Given the description of an element on the screen output the (x, y) to click on. 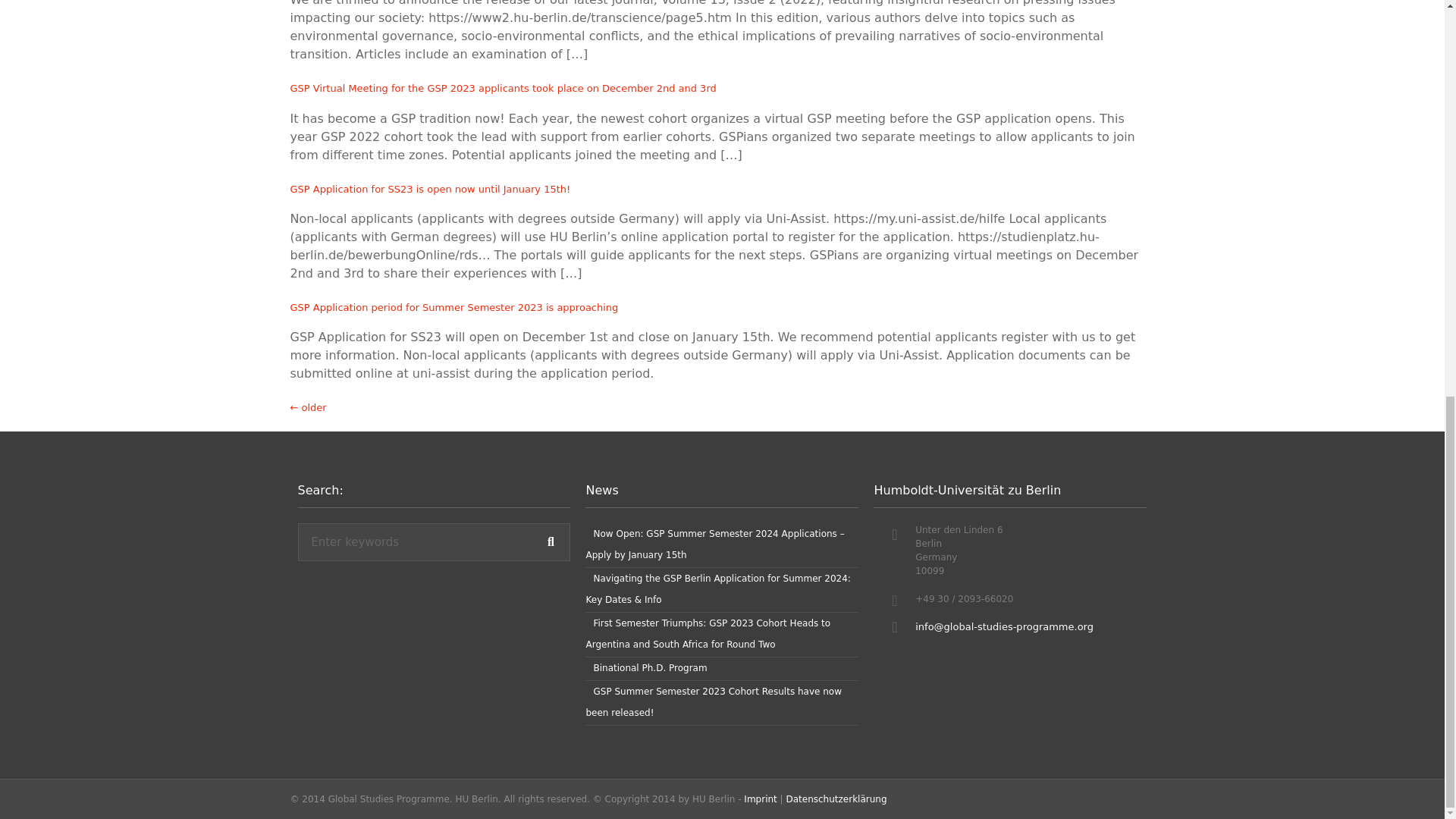
Search (415, 542)
Search (550, 542)
